Given the description of an element on the screen output the (x, y) to click on. 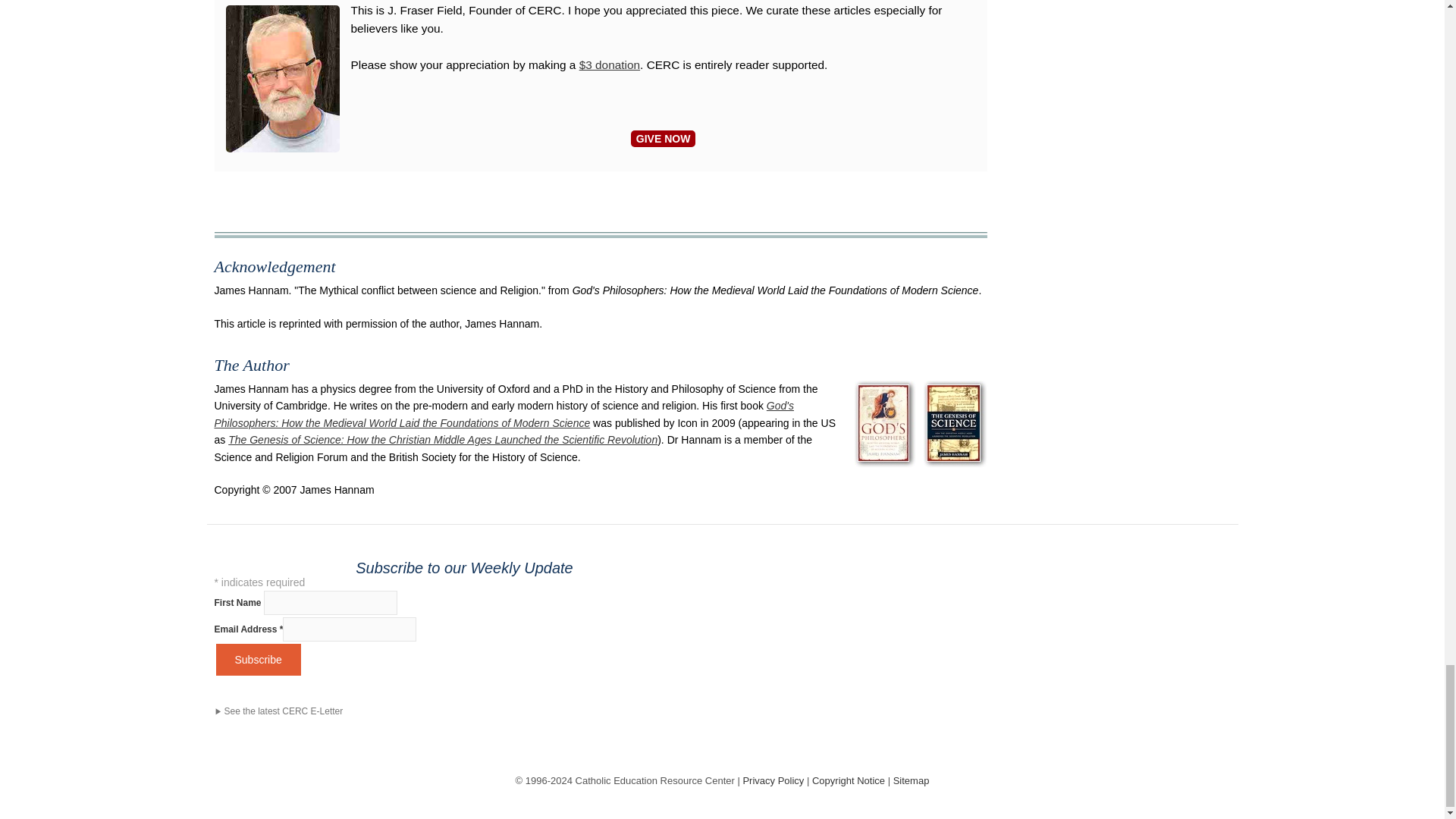
GIVE NOW (662, 138)
Subscribe (257, 659)
